Given the description of an element on the screen output the (x, y) to click on. 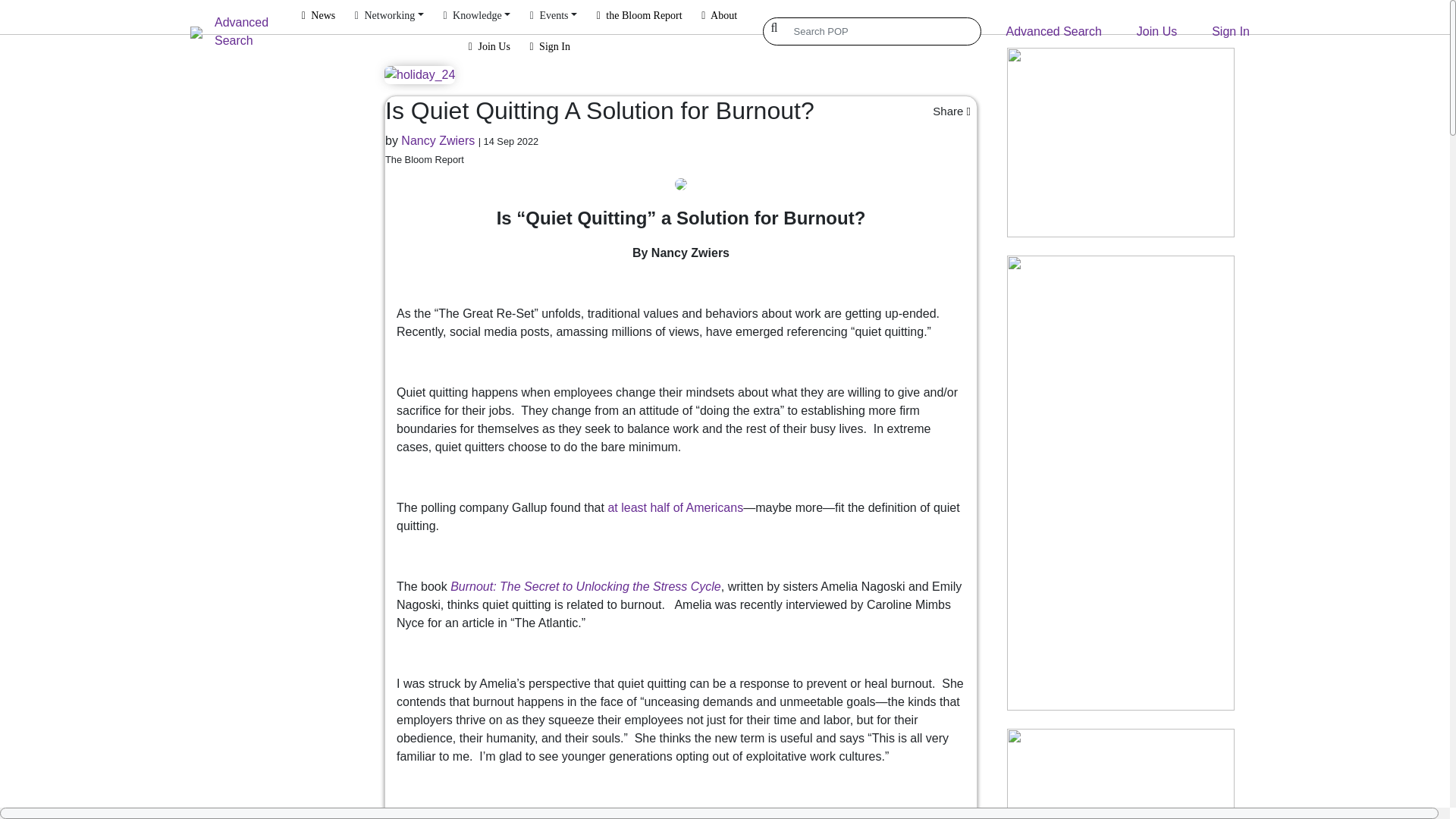
Join Us (488, 47)
News (318, 15)
Advanced Search (1053, 31)
Join Us (1156, 31)
Events (552, 15)
Advanced Search (251, 31)
Sign In (549, 47)
About (718, 15)
the Bloom Report (639, 15)
Networking (389, 15)
